Given the description of an element on the screen output the (x, y) to click on. 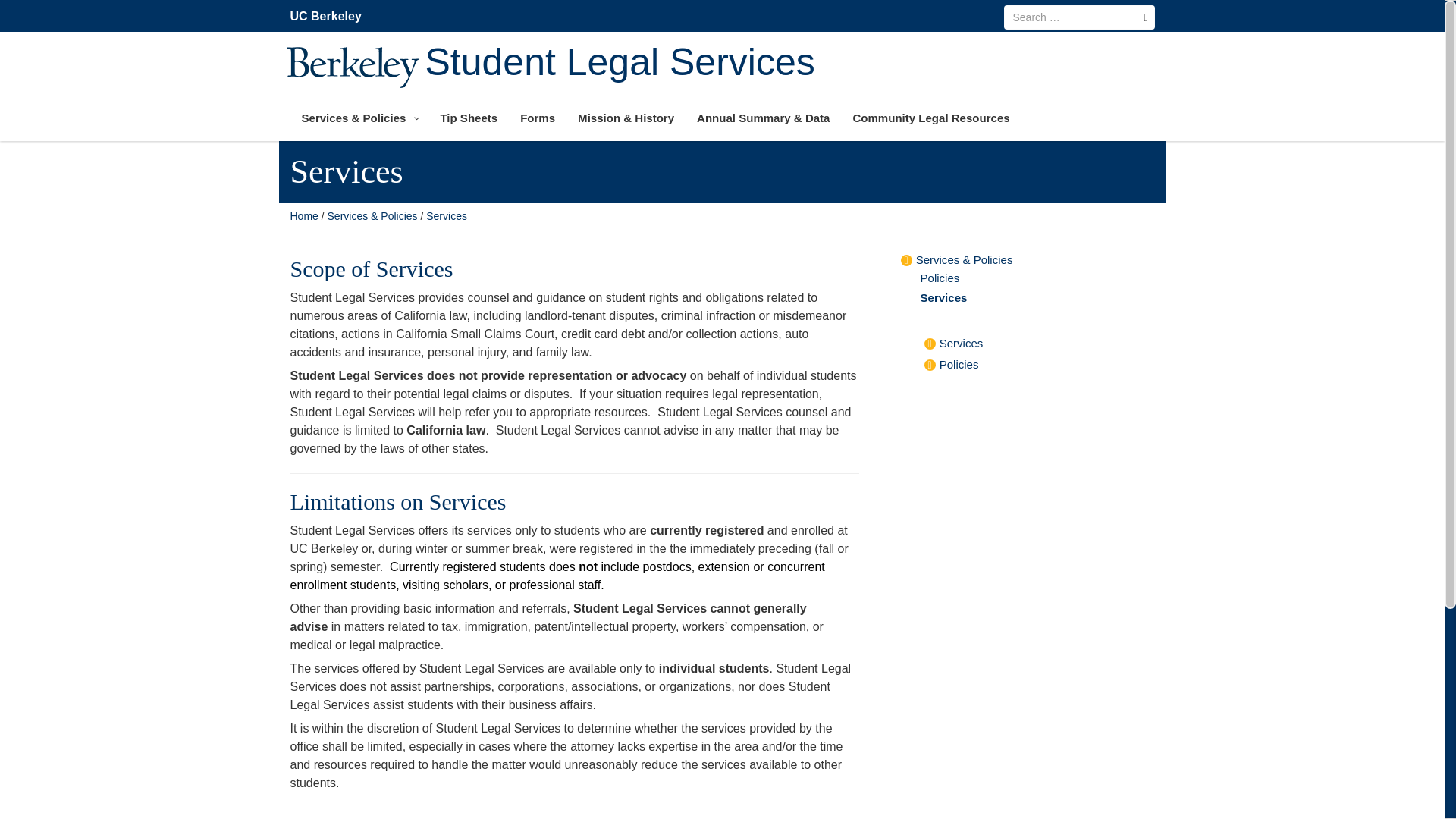
UC Berkeley (329, 16)
Policies (939, 277)
Community Legal Resources (930, 117)
Services (944, 297)
search term (1079, 16)
Student Legal Services (303, 215)
Forms (537, 117)
Tip Sheets (468, 117)
Services (961, 342)
Home (303, 215)
